Given the description of an element on the screen output the (x, y) to click on. 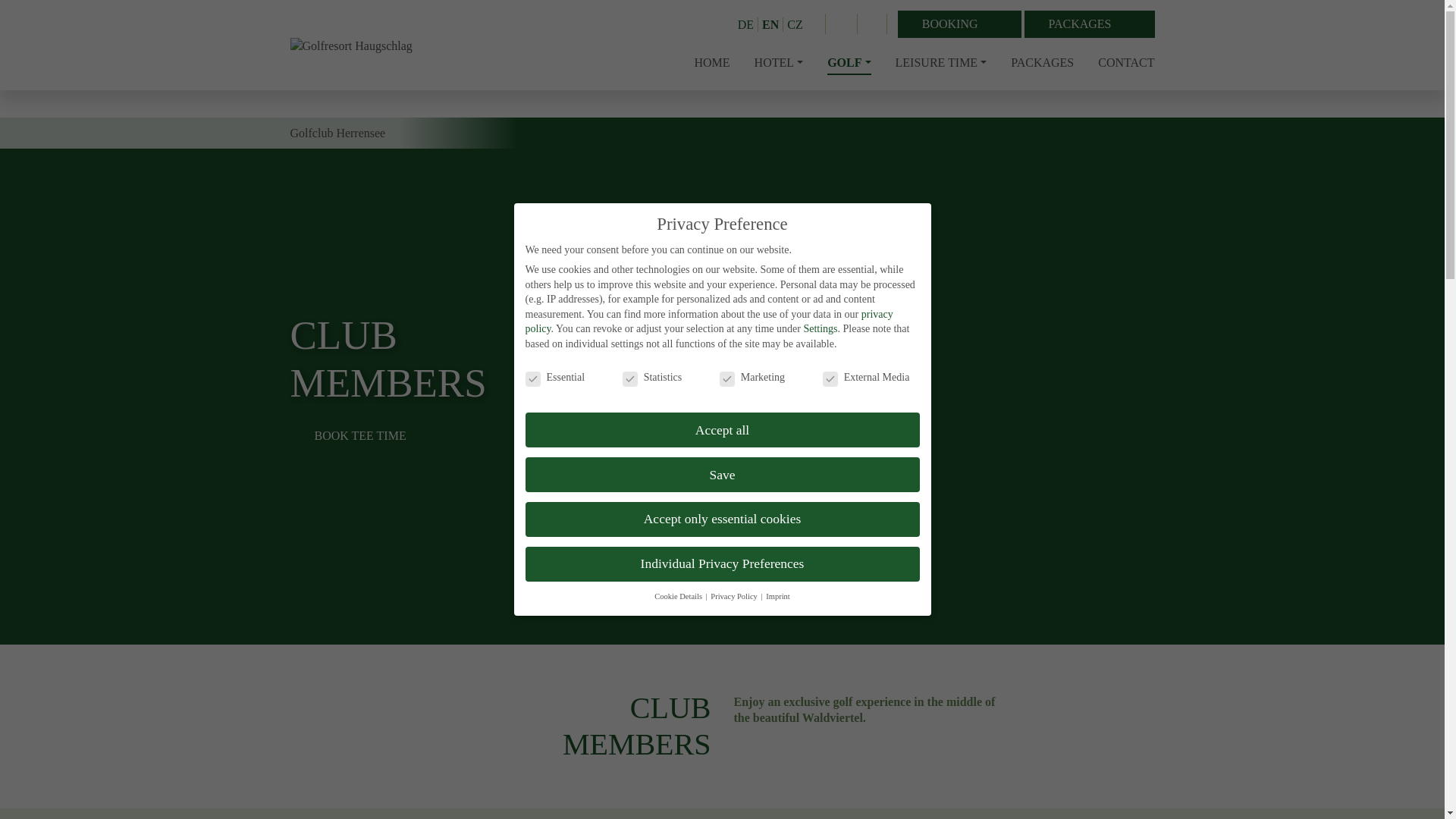
PACKAGES (1088, 23)
Hotel (778, 61)
Golfresort Haugschlag (350, 44)
BOOKING (960, 23)
Home (712, 61)
